Given the description of an element on the screen output the (x, y) to click on. 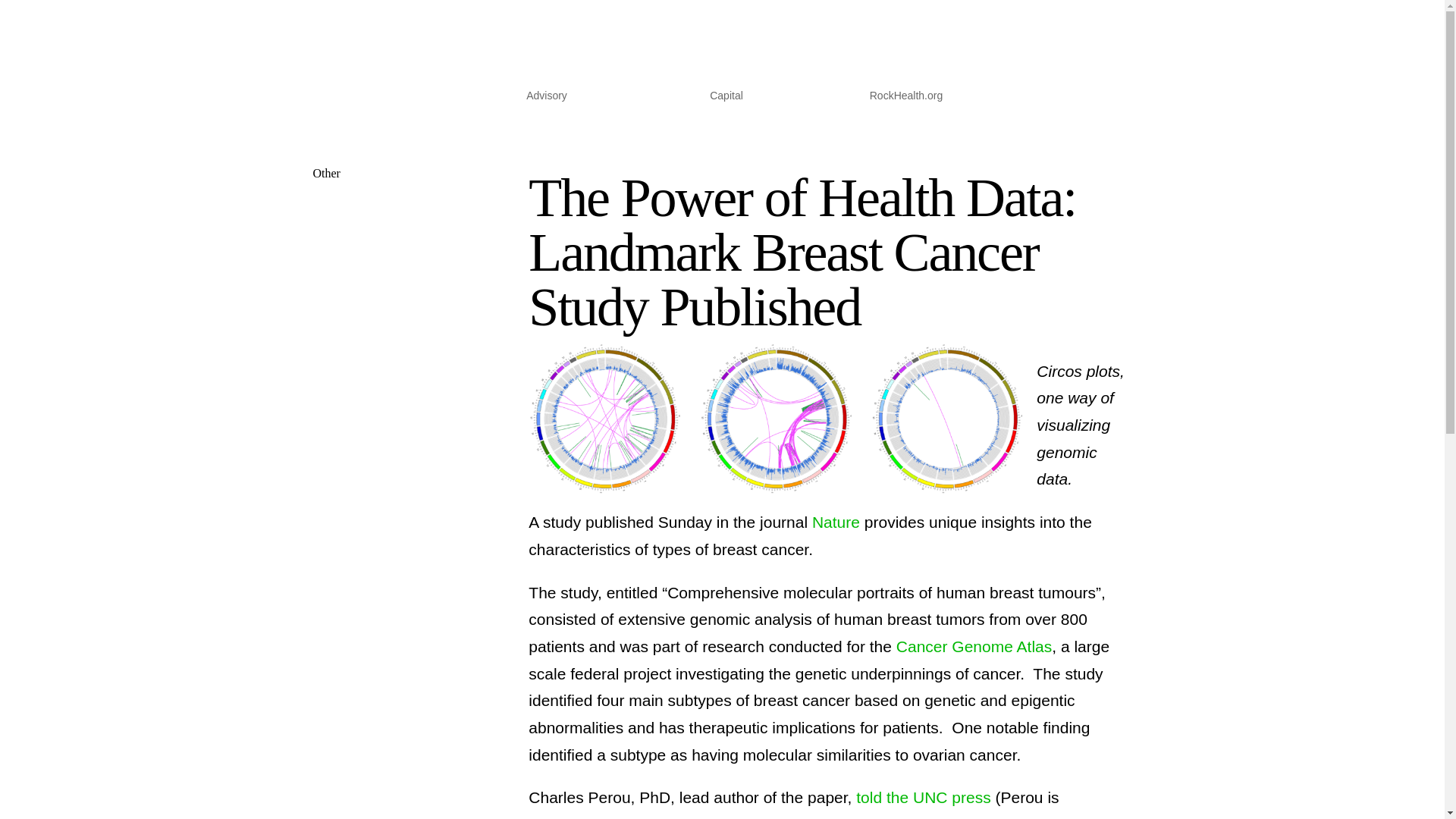
Capital (726, 98)
circos plot (776, 419)
Cancer Genome Atlas (973, 646)
RockHealth.org (906, 98)
told the UNC press (920, 796)
Nature (836, 521)
Advisory (546, 98)
